Given the description of an element on the screen output the (x, y) to click on. 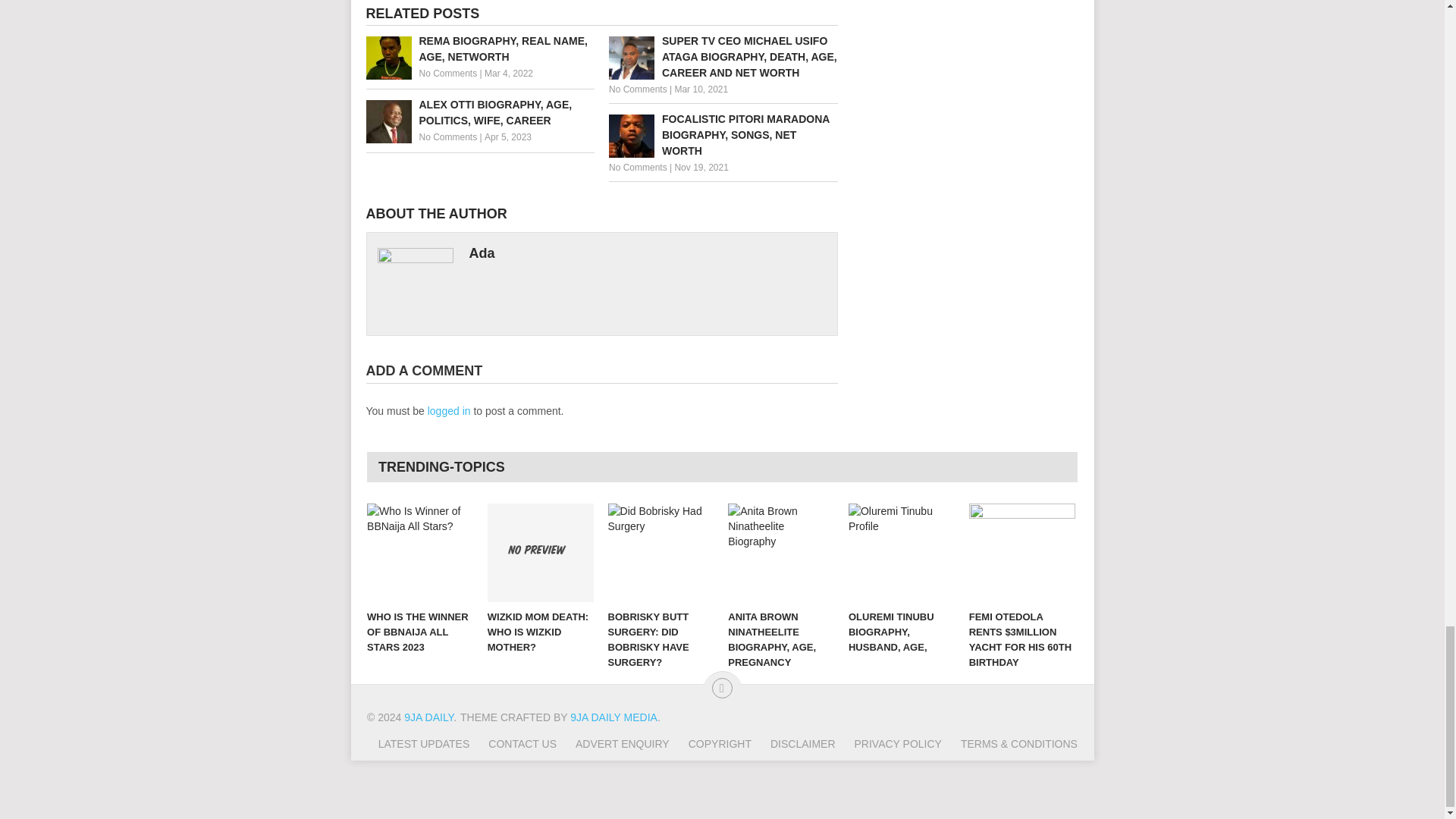
logged in (449, 410)
No Comments (637, 167)
Rema Biography, Real Name, Age, Networth (479, 49)
ALEX OTTI BIOGRAPHY, AGE, POLITICS, WIFE, CAREER (479, 112)
REMA BIOGRAPHY, REAL NAME, AGE, NETWORTH (479, 49)
No Comments (448, 72)
No Comments (448, 136)
FOCALISTIC PITORI MARADONA BIOGRAPHY, SONGS, NET WORTH (723, 134)
No Comments (637, 89)
